Given the description of an element on the screen output the (x, y) to click on. 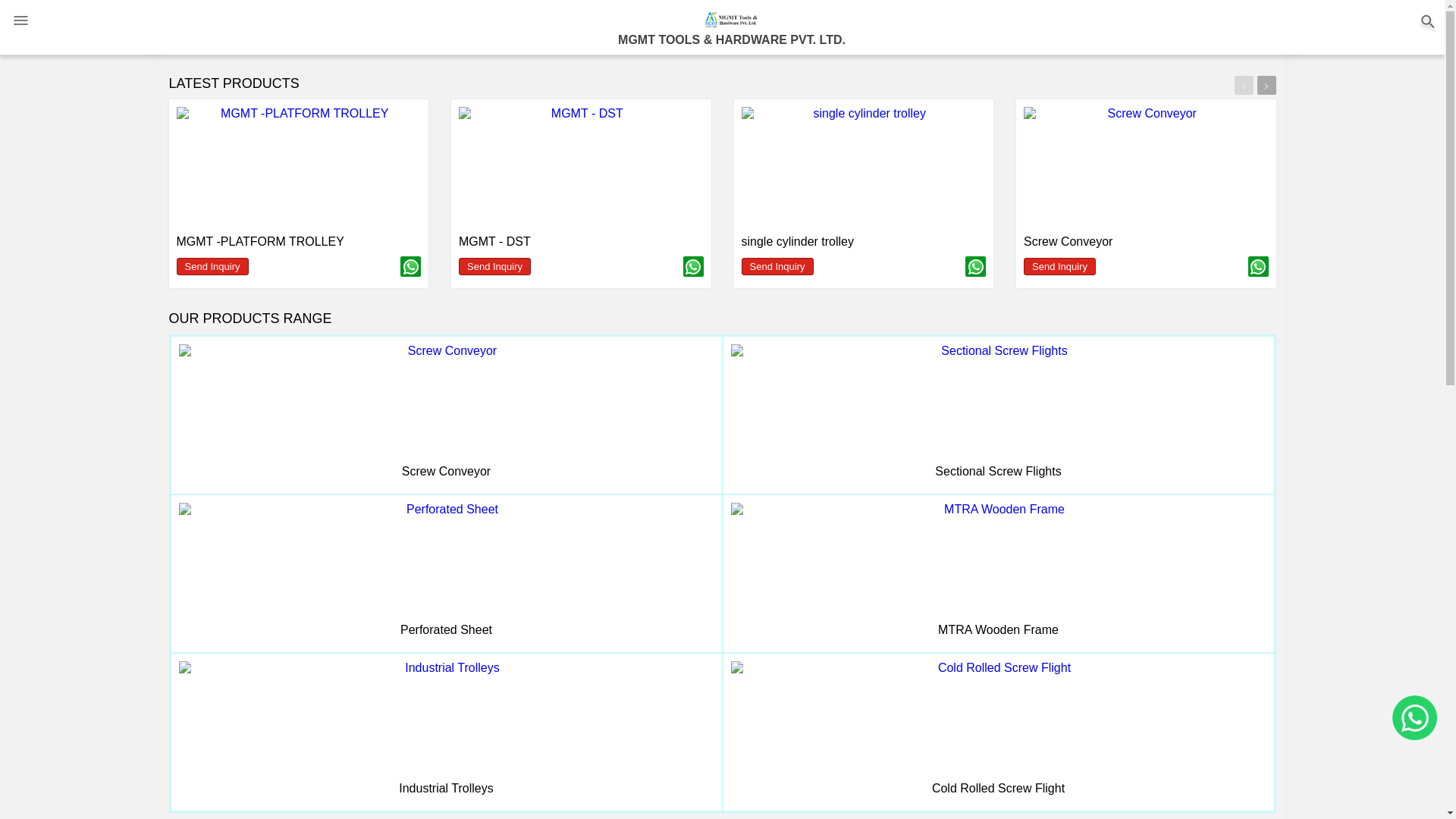
MGMT -PLATFORM TROLLEY (259, 241)
Send Inquiry (1059, 266)
single cylinder trolley (797, 241)
Screw Conveyor (1067, 241)
Send Inquiry (777, 266)
Send Inquiry (211, 266)
Screw Conveyor (445, 471)
Send Inquiry (494, 266)
MGMT - DST (494, 241)
